Given the description of an element on the screen output the (x, y) to click on. 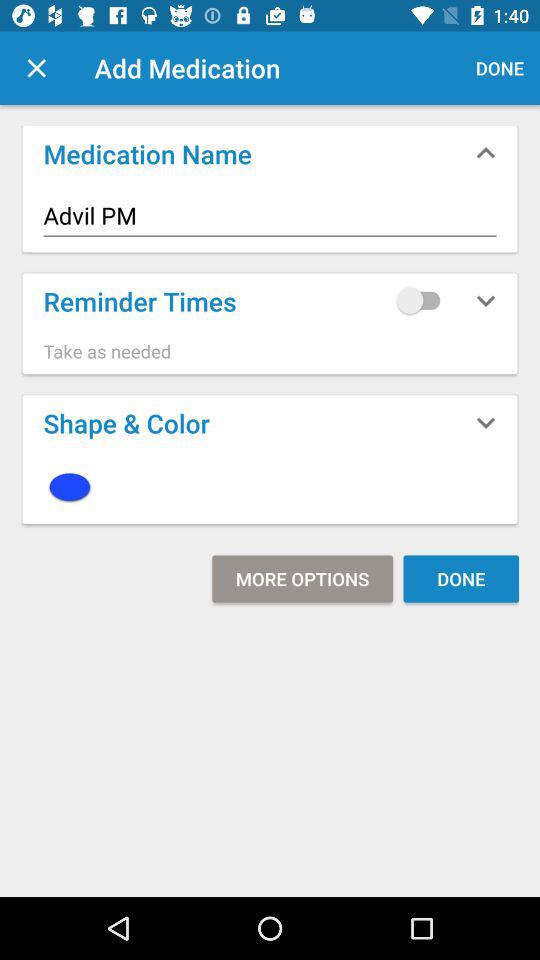
click on more options (302, 578)
